Given the description of an element on the screen output the (x, y) to click on. 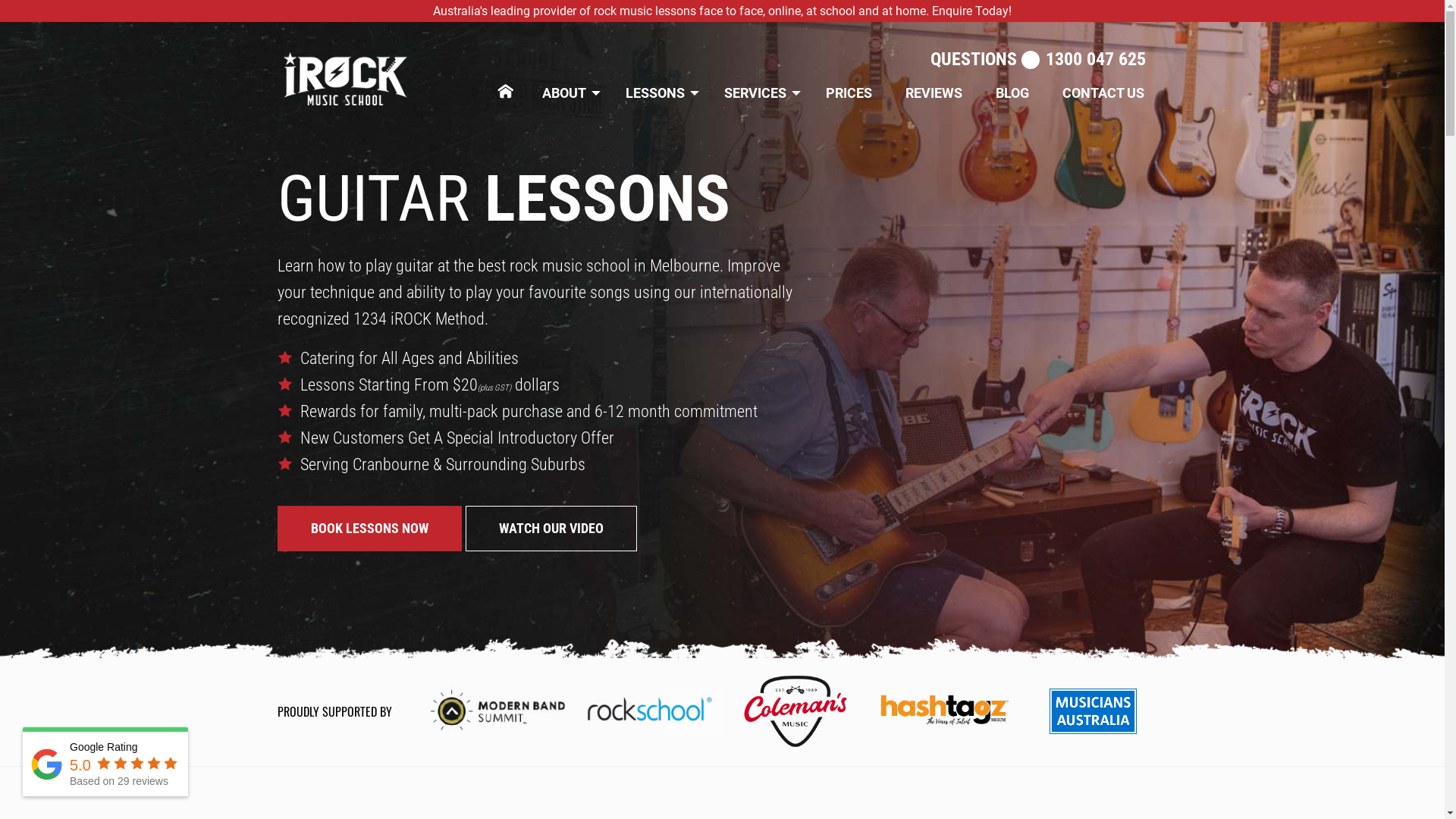
BLOG Element type: text (1012, 93)
1300 047 625 Element type: text (1095, 58)
BOOK LESSONS NOW Element type: text (369, 527)
SERVICES Element type: text (758, 93)
WATCH OUR VIDEO Element type: text (551, 527)
HOME Element type: text (508, 86)
CONTACT US Element type: text (1103, 93)
REVIEWS Element type: text (933, 93)
ABOUT Element type: text (567, 93)
LESSONS Element type: text (657, 93)
PRICES Element type: text (848, 93)
